Given the description of an element on the screen output the (x, y) to click on. 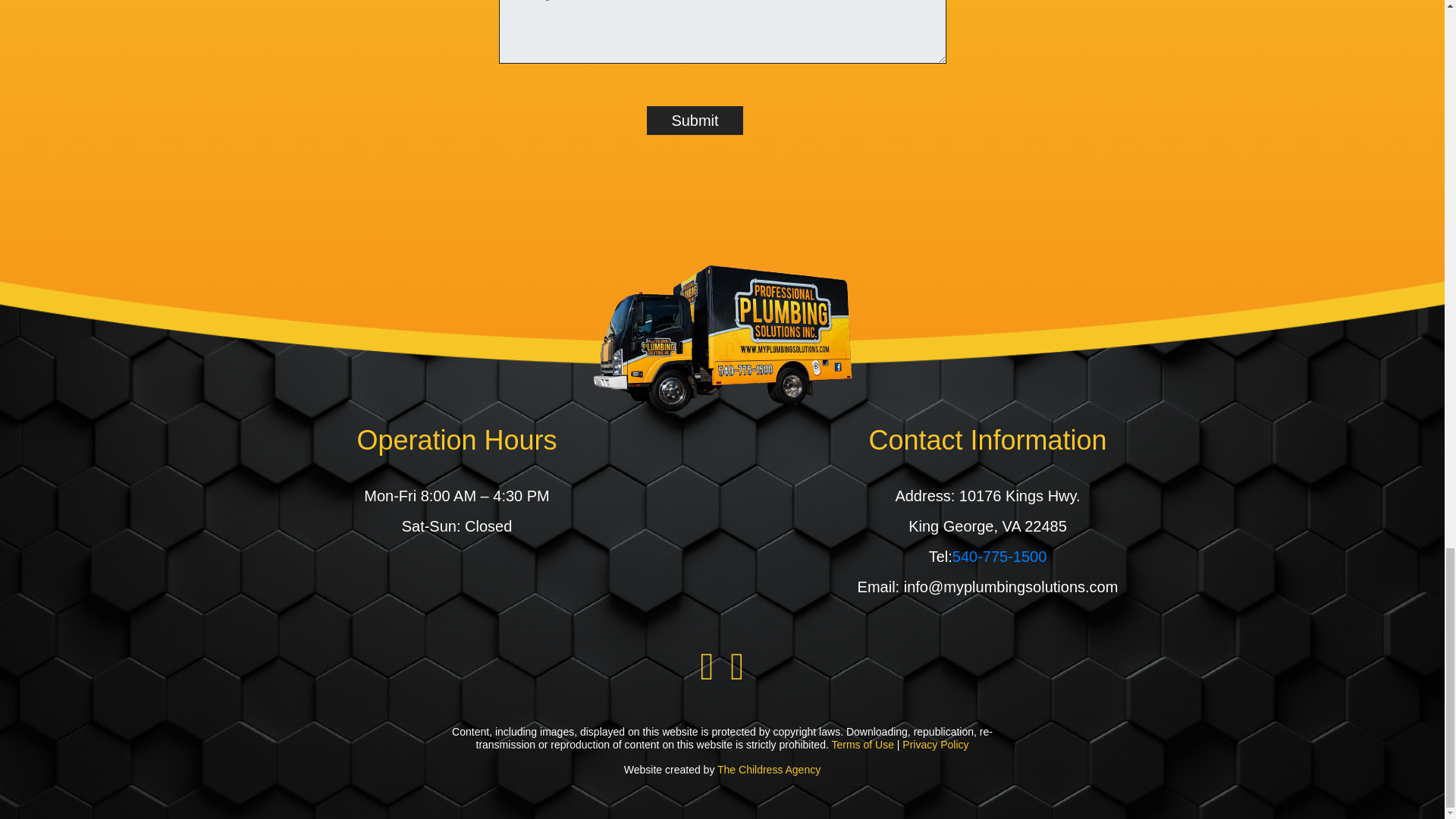
540-775-1500 (999, 556)
The Childress Agency (769, 769)
Terms of Use (862, 744)
Privacy Policy (935, 744)
Submit (694, 120)
Submit (694, 120)
